Given the description of an element on the screen output the (x, y) to click on. 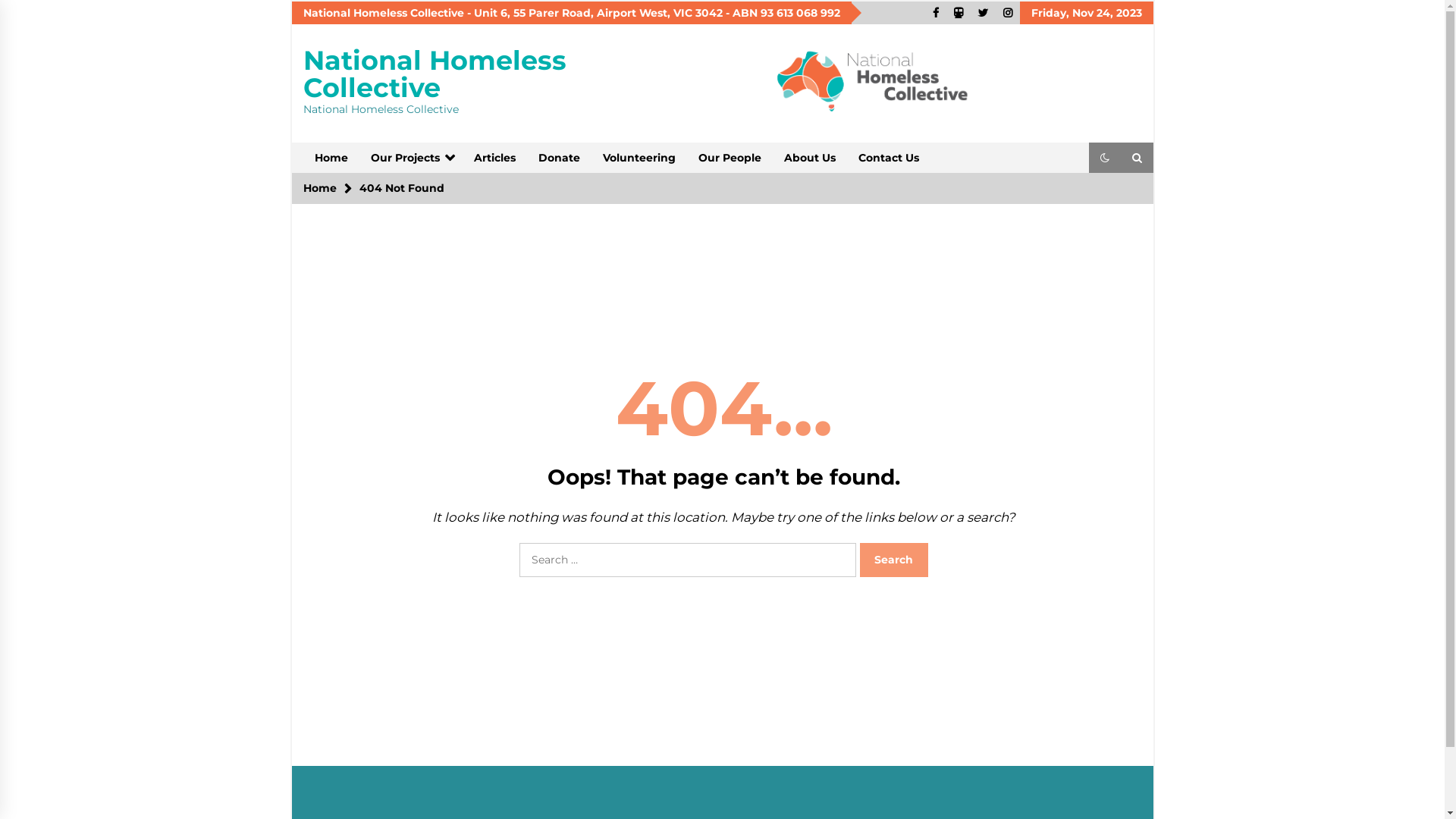
Our Projects Element type: text (410, 157)
Donate Element type: text (558, 157)
Home Element type: text (319, 187)
Articles Element type: text (494, 157)
Search Element type: text (893, 559)
404 Not Found Element type: text (401, 187)
Our People Element type: text (729, 157)
National Homeless Collective Element type: text (434, 73)
Contact Us Element type: text (887, 157)
Volunteering Element type: text (639, 157)
About Us Element type: text (808, 157)
Home Element type: text (331, 157)
